Given the description of an element on the screen output the (x, y) to click on. 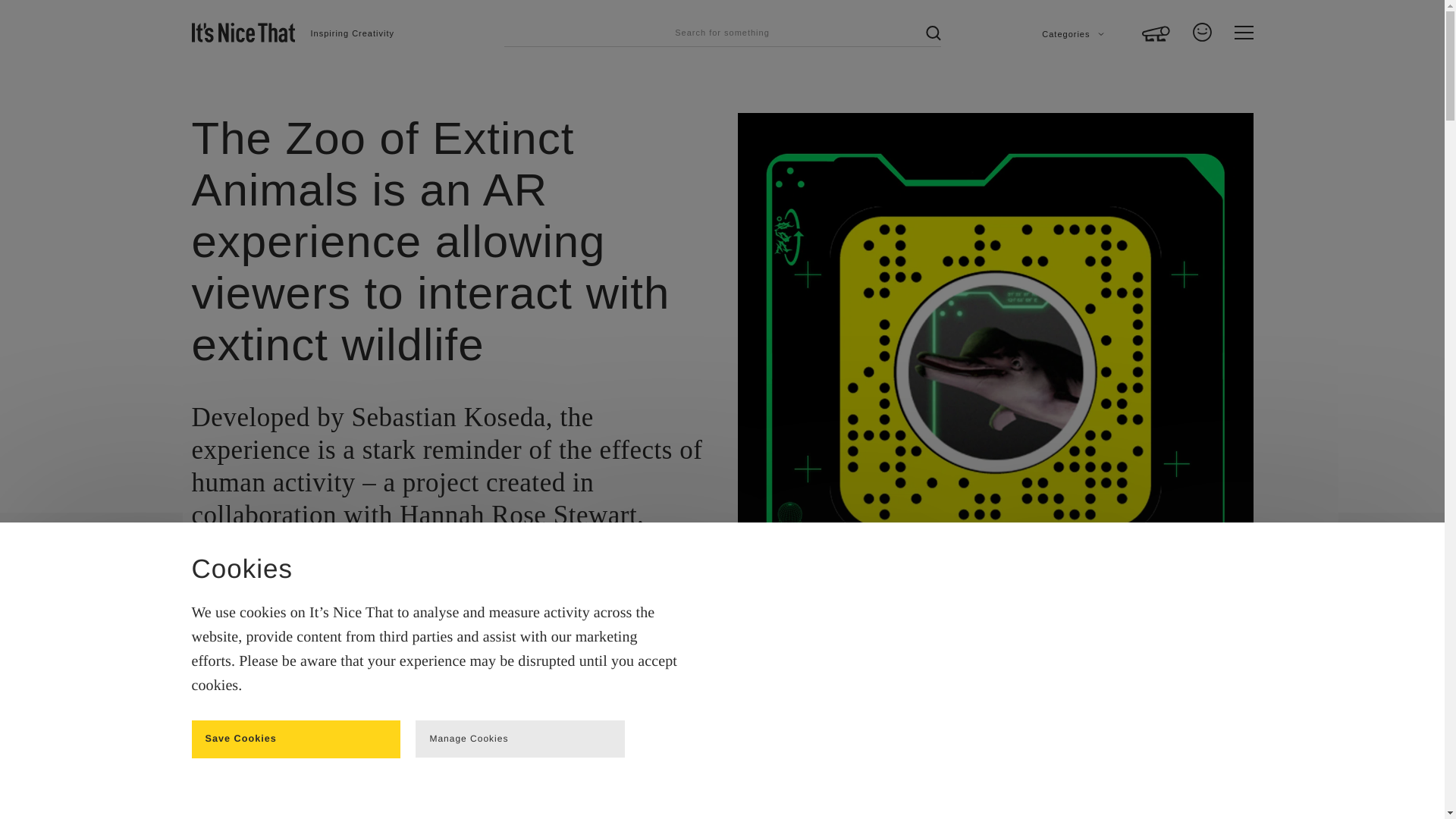
Manage Cookies (519, 738)
Save Cookies (295, 739)
